Given the description of an element on the screen output the (x, y) to click on. 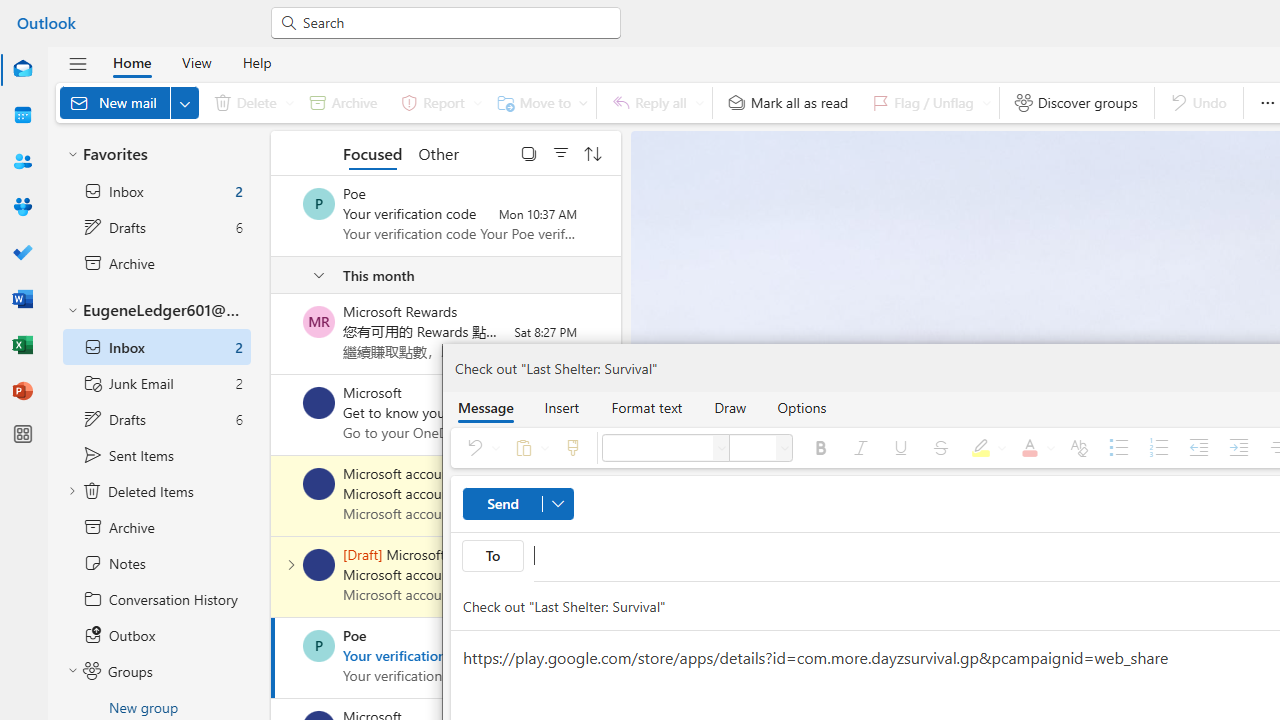
Increase indent (1238, 447)
Microsoft account team (319, 564)
Numbering (1158, 447)
Bold (820, 447)
Move to (538, 102)
People (22, 161)
Mark as unread (273, 577)
Filter (561, 152)
Word (22, 298)
Font color (1033, 447)
PowerPoint (22, 391)
Draw (729, 407)
Mail (22, 69)
Options (801, 407)
Excel (22, 344)
